Given the description of an element on the screen output the (x, y) to click on. 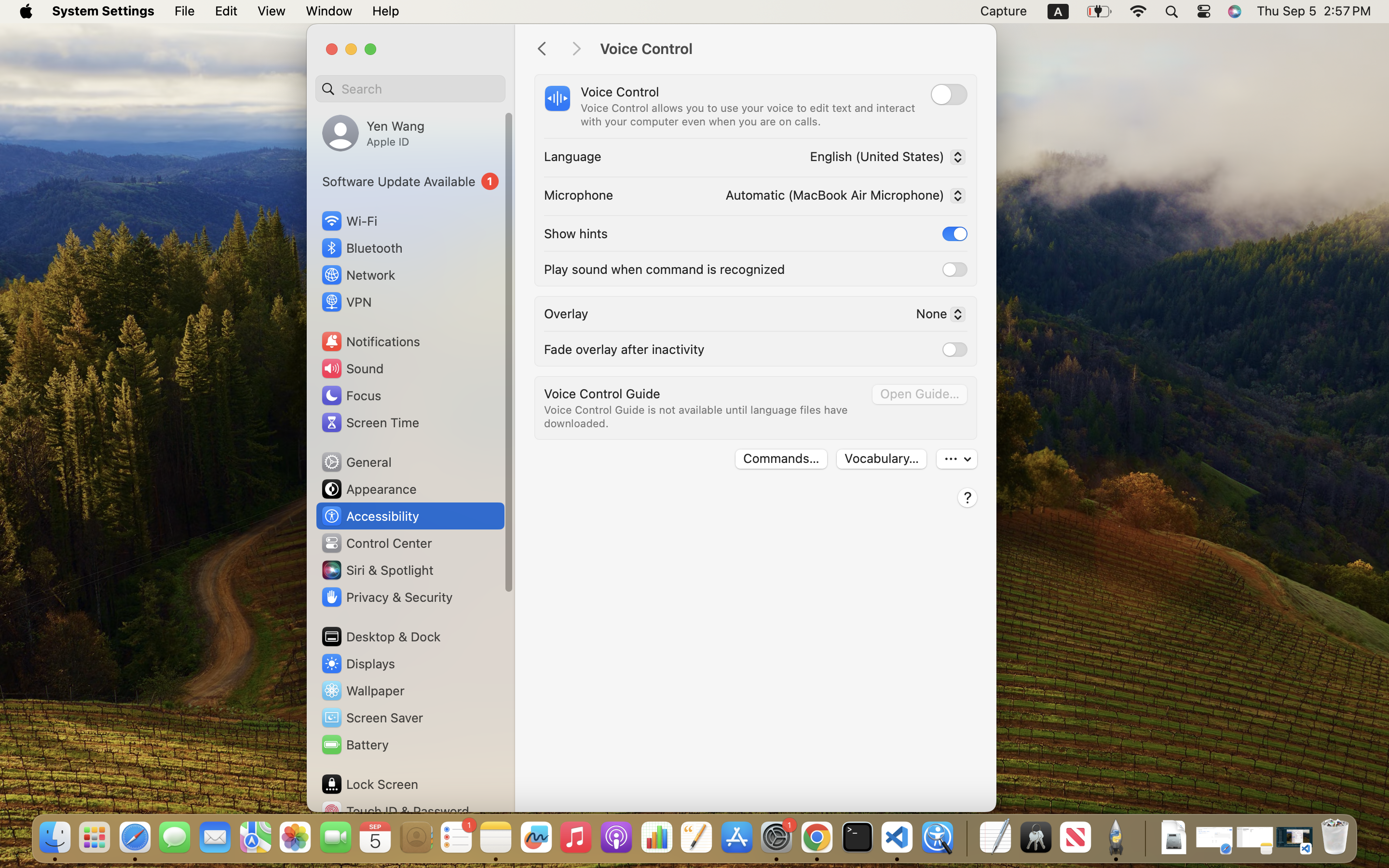
Wi‑Fi Element type: AXStaticText (348, 220)
Overlay Element type: AXStaticText (566, 313)
Voice Control Guide Element type: AXStaticText (602, 393)
Yen Wang, Apple ID Element type: AXStaticText (373, 132)
Focus Element type: AXStaticText (350, 394)
